Given the description of an element on the screen output the (x, y) to click on. 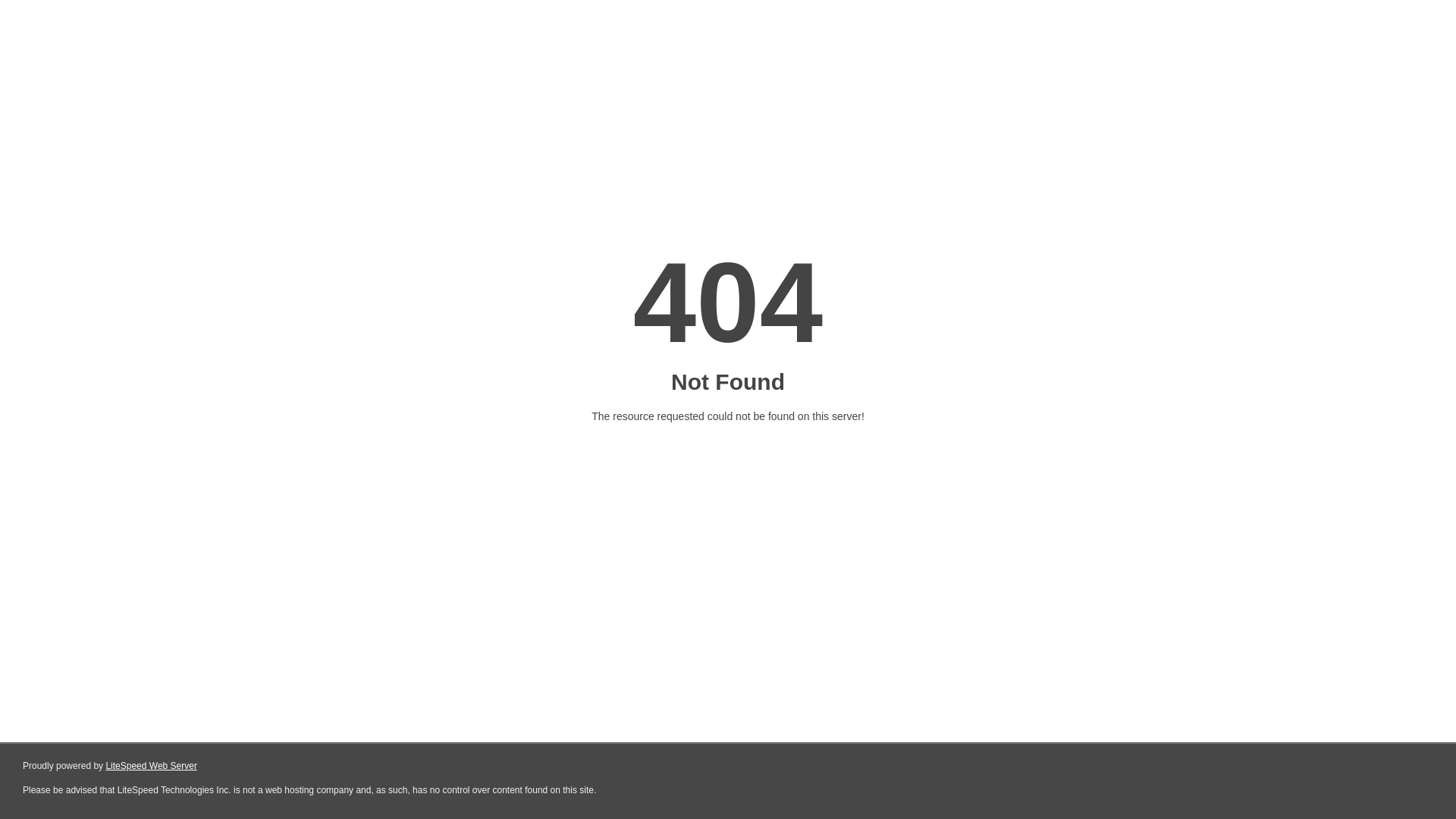
LiteSpeed Web Server Element type: text (151, 765)
